Given the description of an element on the screen output the (x, y) to click on. 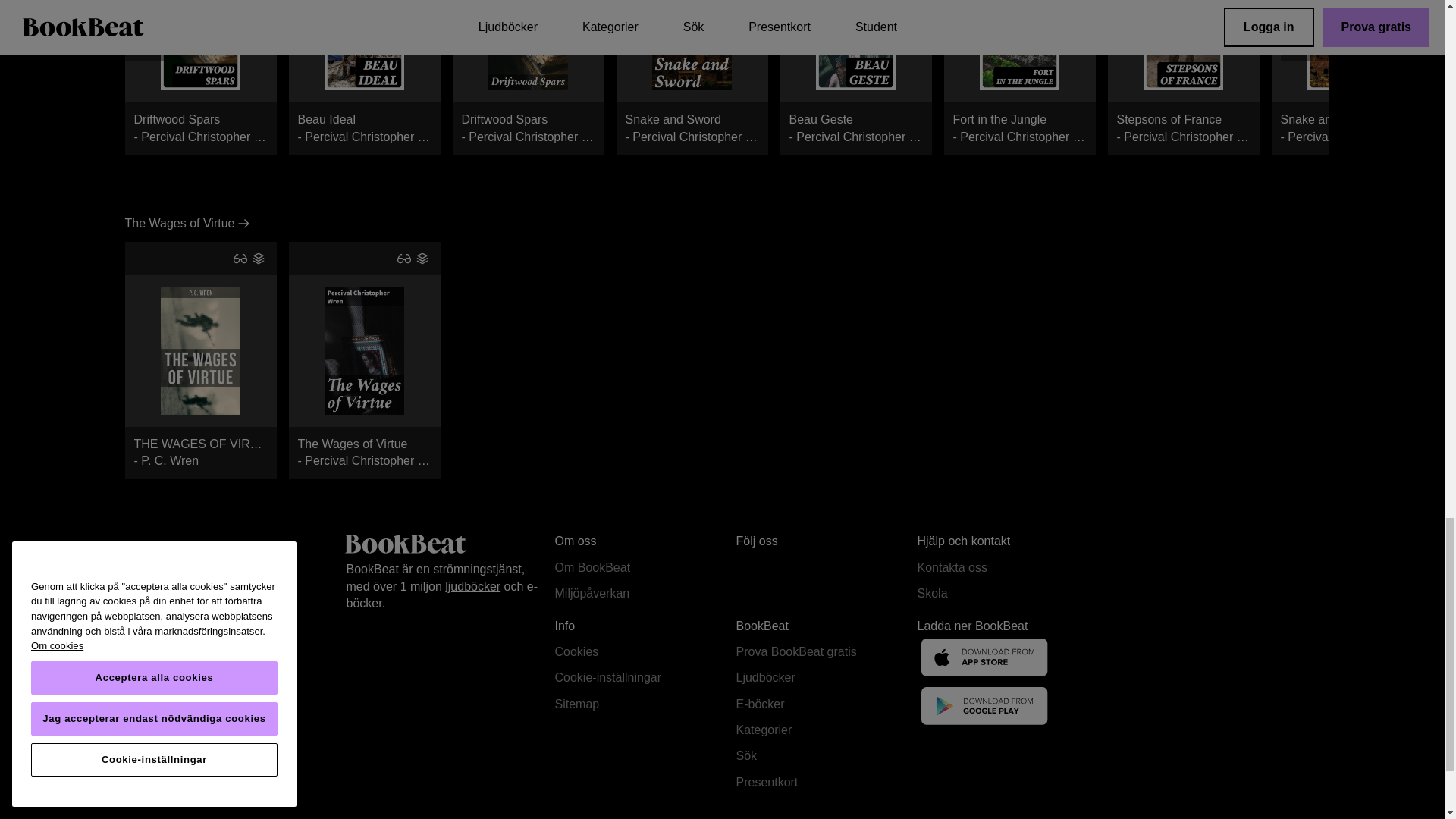
Item 3 of 17 (527, 77)
Item 4 of 17 (1346, 77)
Item 1 of 17 (691, 77)
Beau Ideal (199, 77)
Snake and Sword (363, 45)
Driftwood Spars (691, 45)
Item 2 of 17 (199, 77)
Item 5 of 17 (527, 45)
Driftwood Spars (363, 77)
Carousel-container-:r1: (1018, 77)
